Given the description of an element on the screen output the (x, y) to click on. 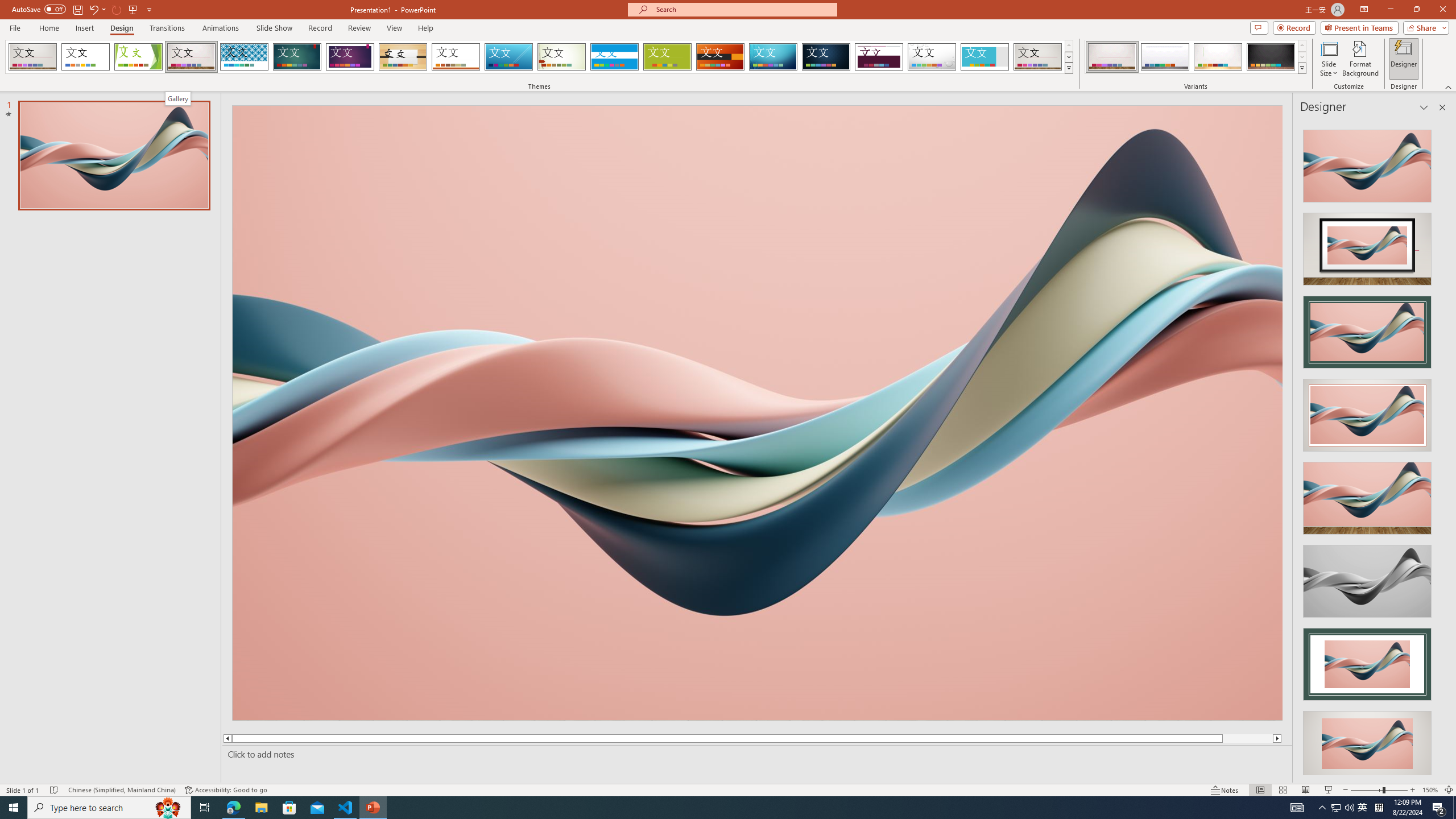
Themes (1068, 67)
Accessibility Checker Accessibility: Good to go (226, 790)
Zoom 150% (1430, 790)
Integral (244, 56)
Damask (826, 56)
Ion Boardroom (350, 56)
